Given the description of an element on the screen output the (x, y) to click on. 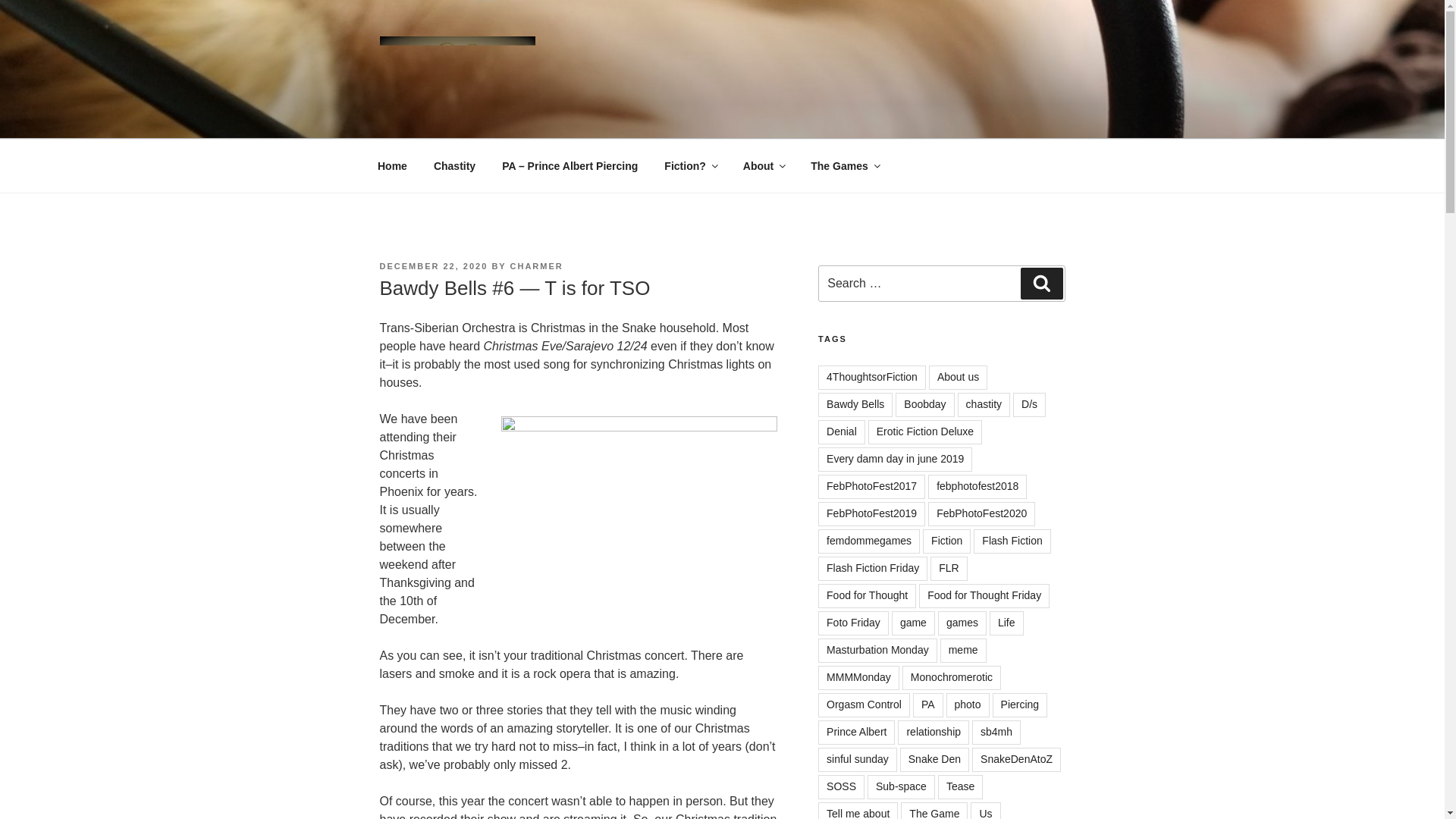
The Games (844, 165)
Home (392, 165)
Chastity (453, 165)
About (762, 165)
Fiction? (689, 165)
STEELED SNAKE (507, 119)
